Given the description of an element on the screen output the (x, y) to click on. 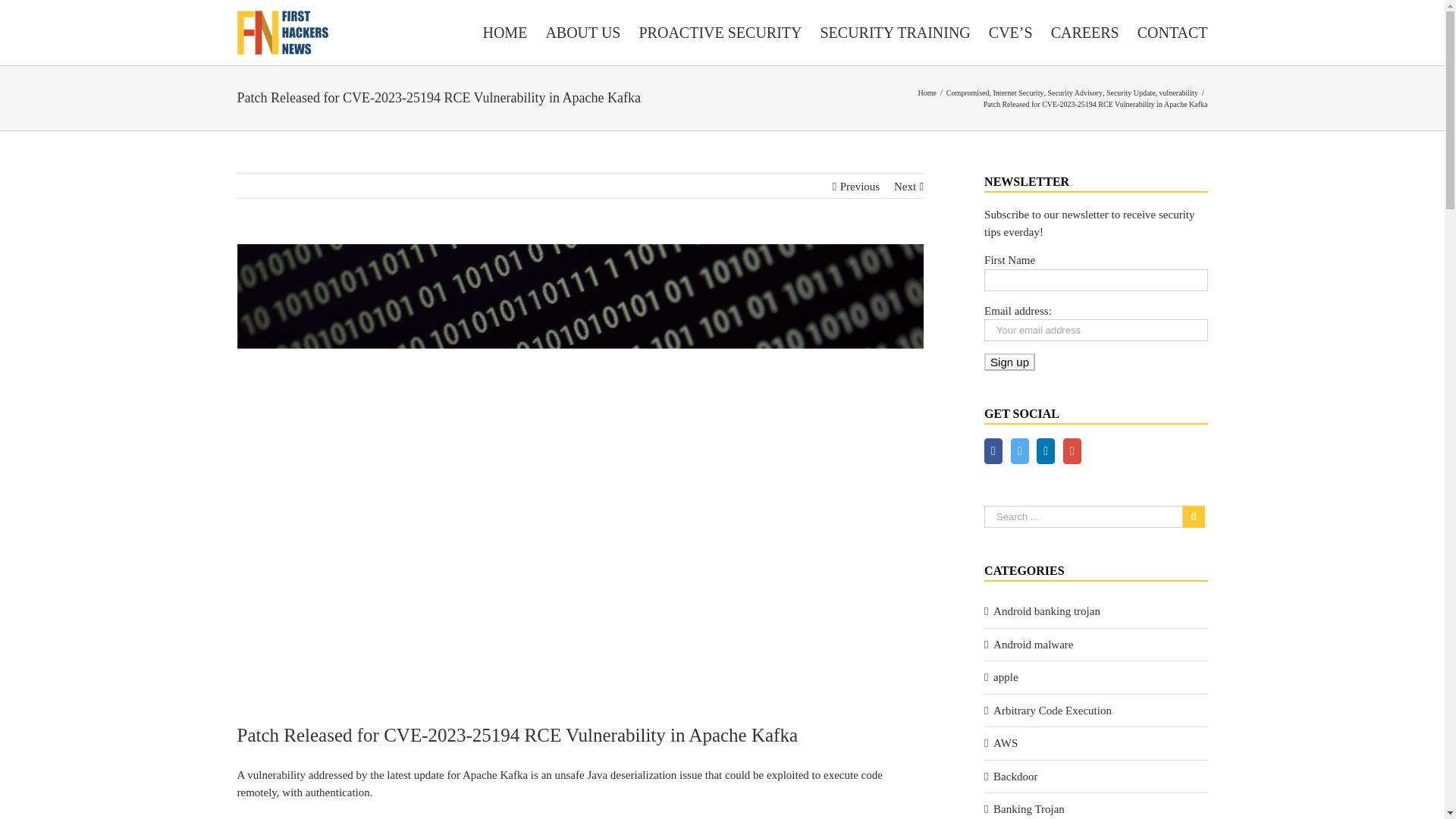
ABOUT US (582, 31)
SECURITY TRAINING (894, 31)
CAREERS (1085, 31)
Home (927, 91)
Compromised (968, 91)
Internet Security (1017, 91)
Previous (860, 186)
CONTACT (1172, 31)
PROACTIVE SECURITY (720, 31)
